Given the description of an element on the screen output the (x, y) to click on. 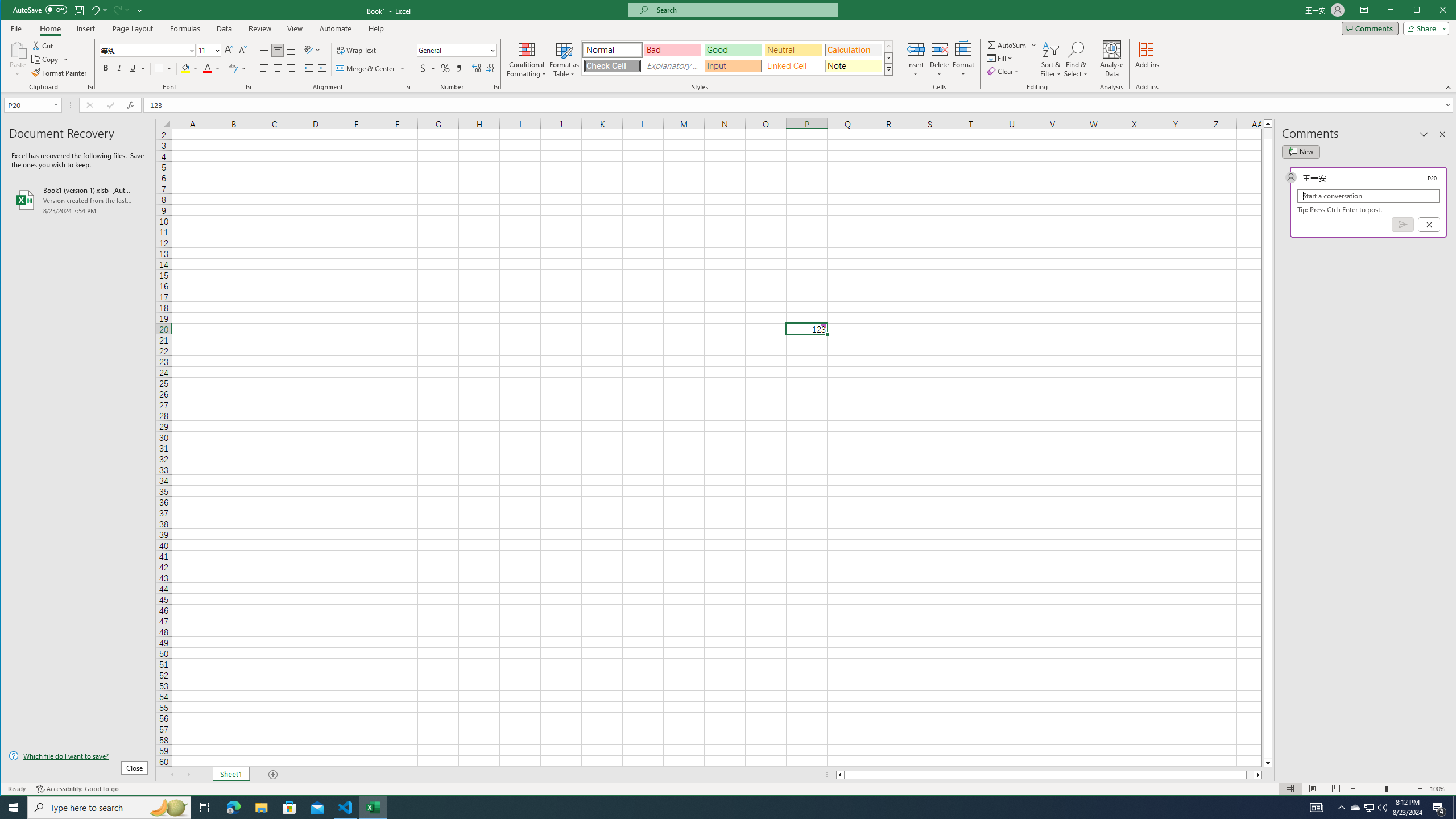
Font Size (205, 50)
Decrease Decimal (1355, 807)
Class: MsoCommandBar (489, 68)
Font (728, 45)
Paste (143, 50)
Insert Cells (17, 59)
Center (915, 48)
Copy (276, 68)
